Given the description of an element on the screen output the (x, y) to click on. 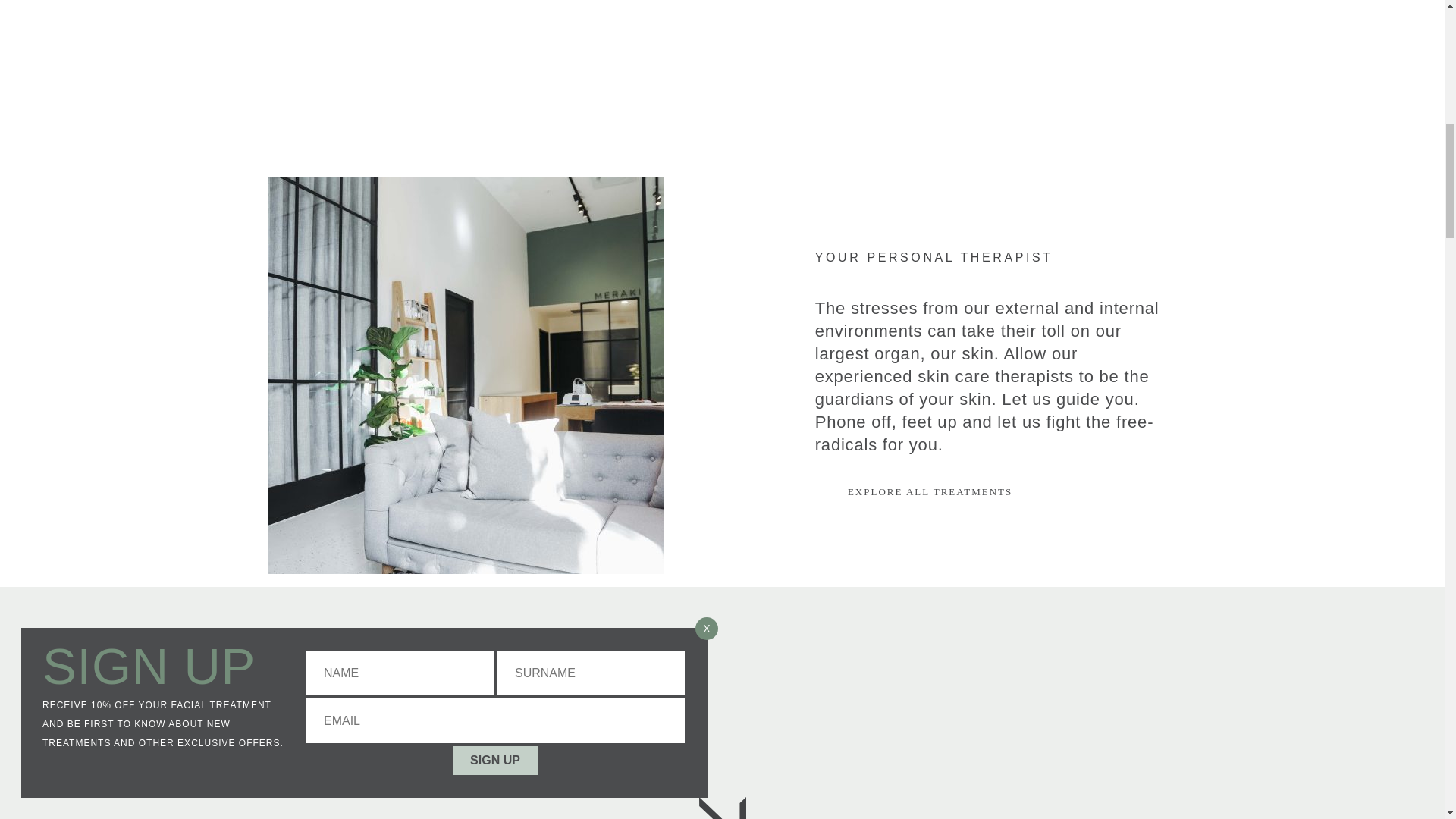
EXPLORE ALL TREATMENTS (937, 491)
